Given the description of an element on the screen output the (x, y) to click on. 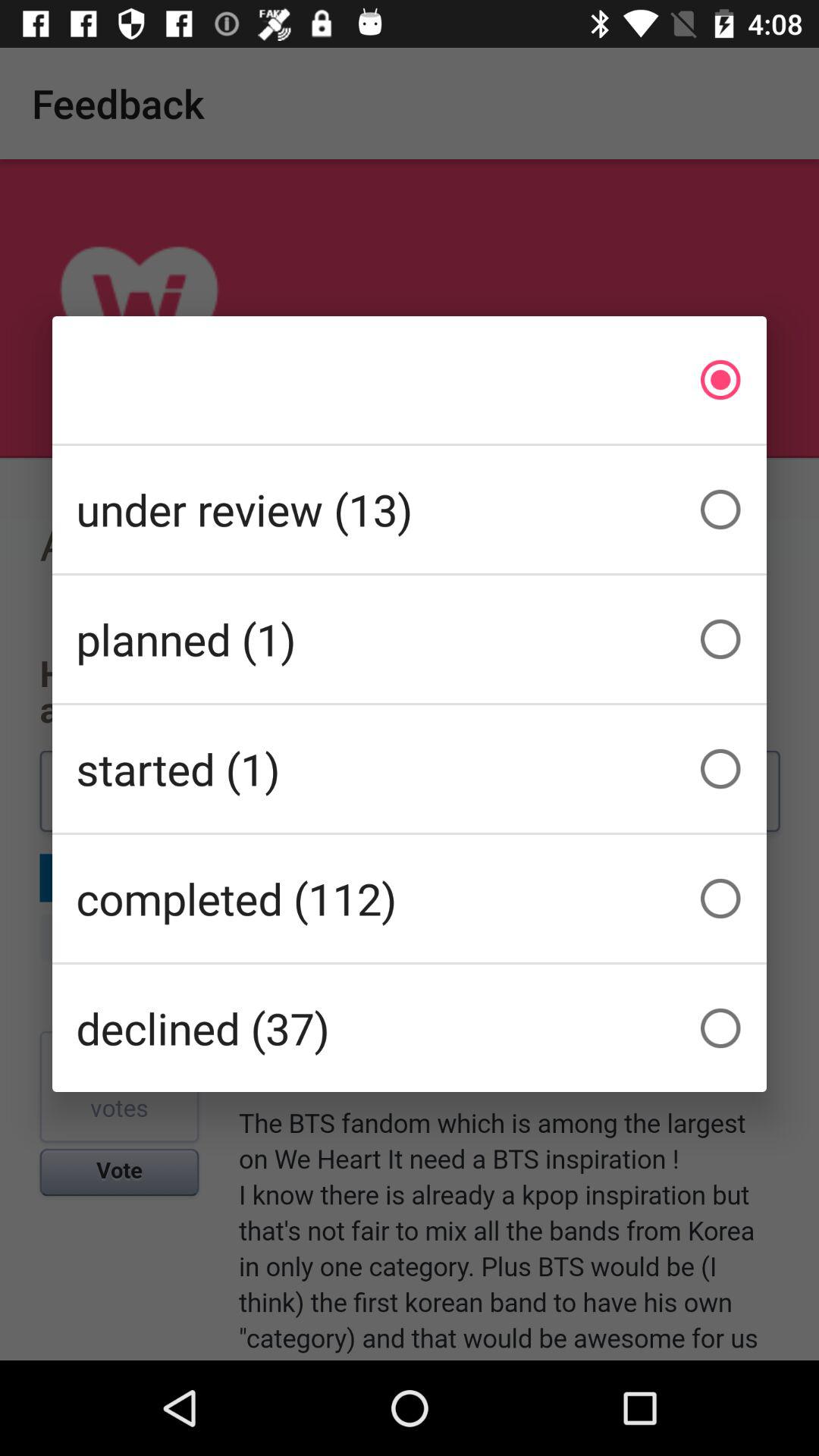
scroll to completed (112) (409, 898)
